Given the description of an element on the screen output the (x, y) to click on. 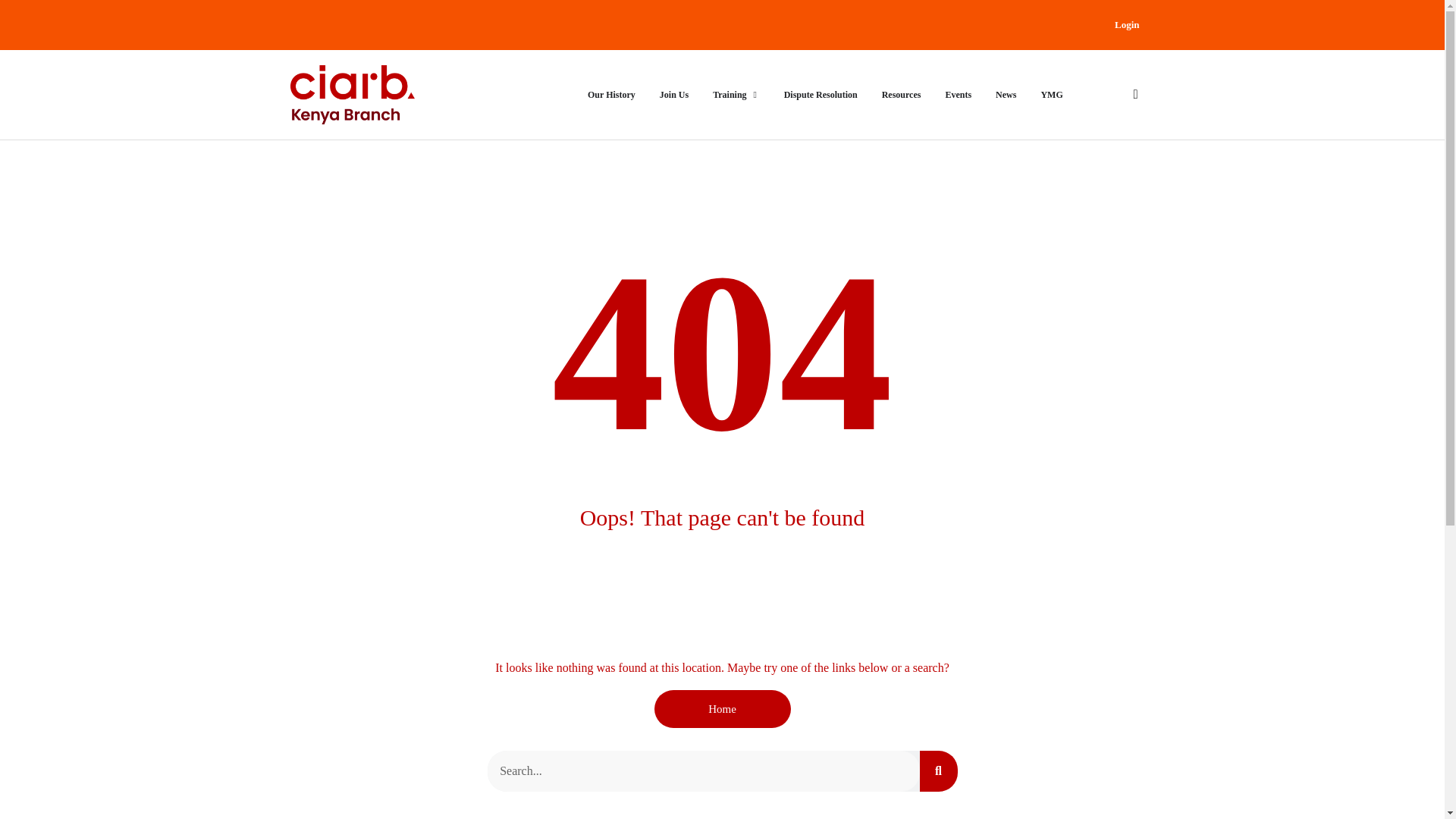
Dispute Resolution (820, 94)
Join Us (673, 94)
Home (721, 709)
Login (1126, 24)
Training (729, 94)
Our History (611, 94)
YMG (1051, 94)
Resources (901, 94)
Events (957, 94)
News (1005, 94)
